Given the description of an element on the screen output the (x, y) to click on. 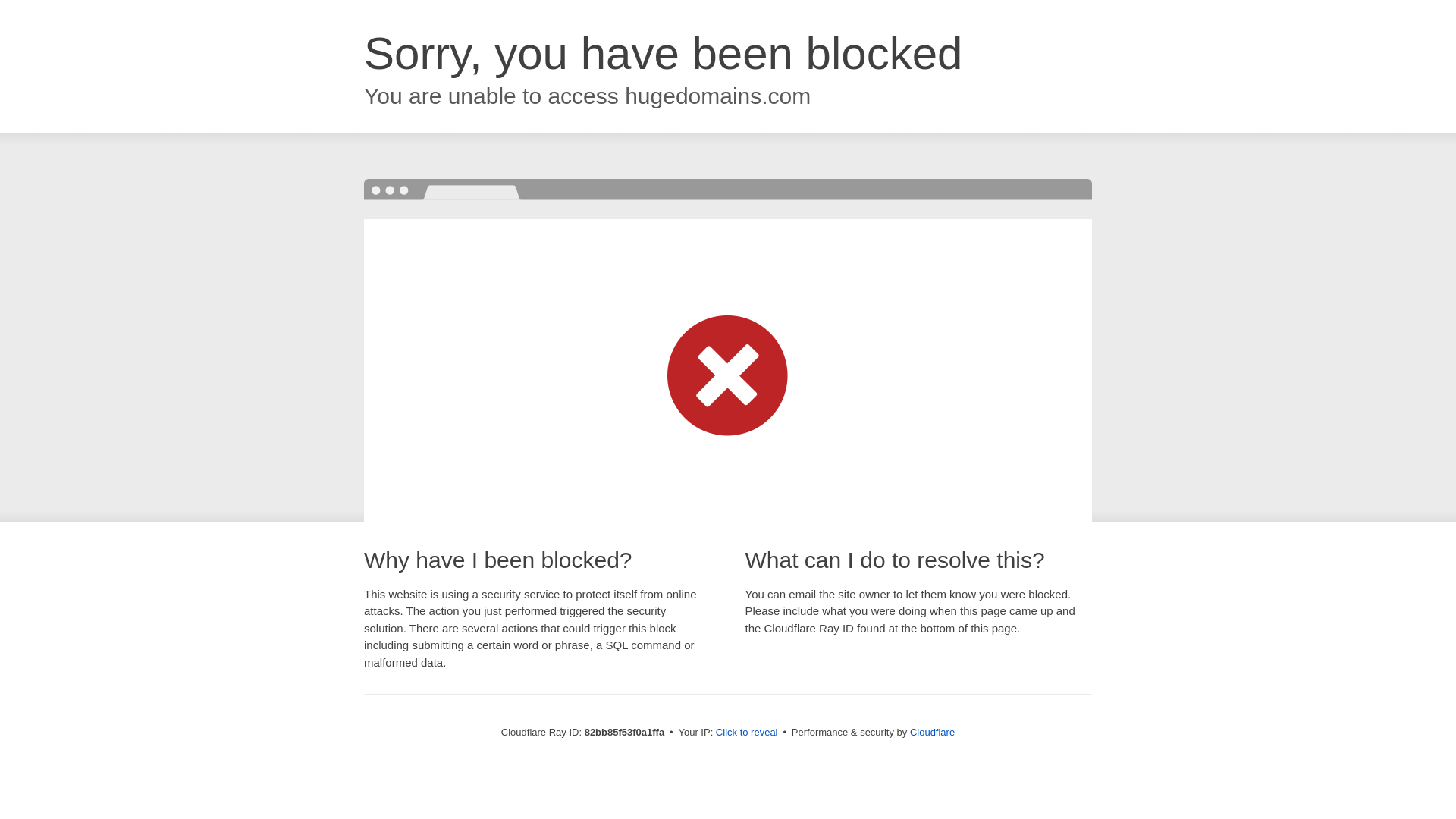
Click to reveal Element type: text (746, 732)
Cloudflare Element type: text (932, 731)
